Given the description of an element on the screen output the (x, y) to click on. 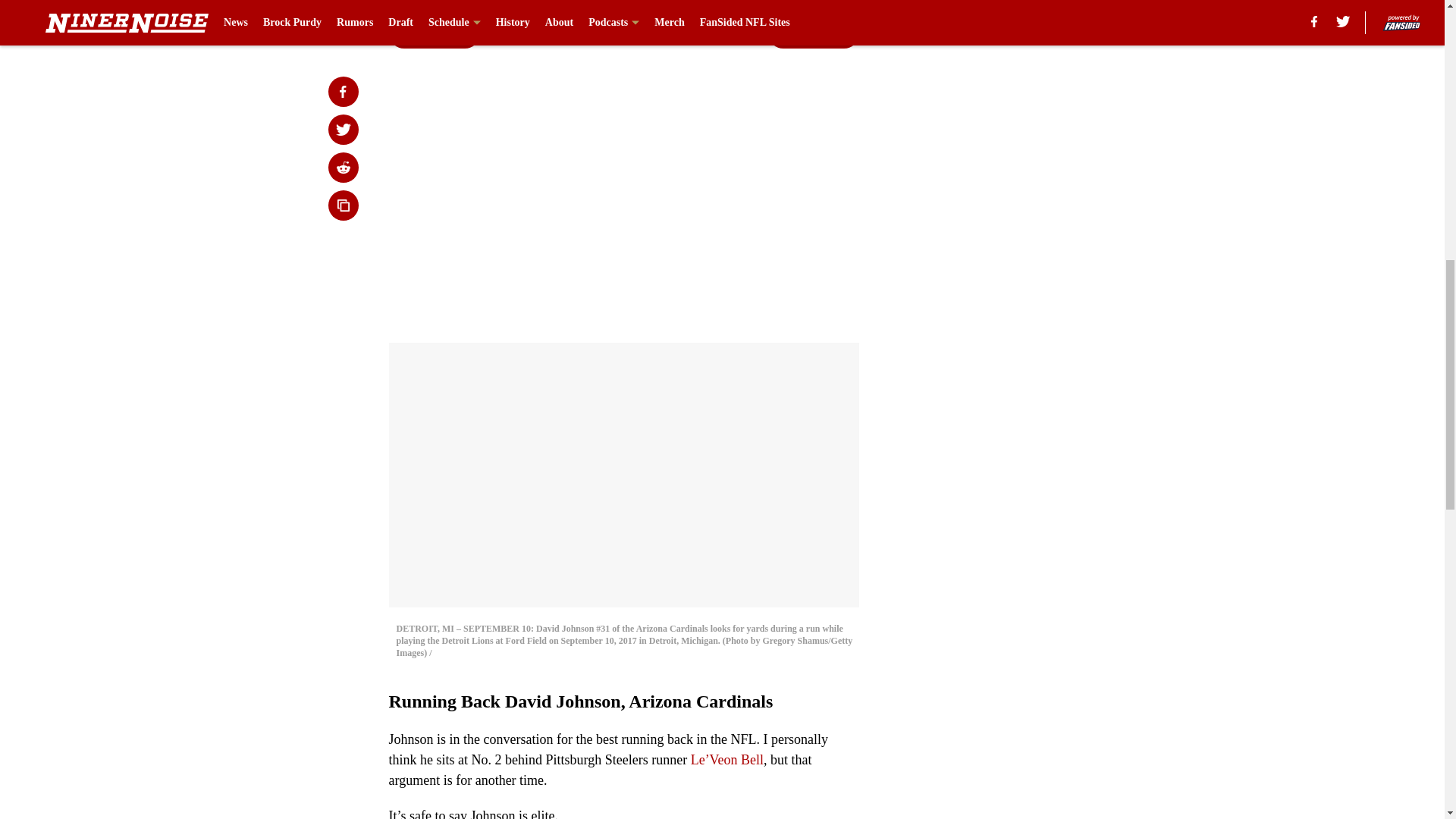
Prev (433, 33)
Next (813, 33)
